Given the description of an element on the screen output the (x, y) to click on. 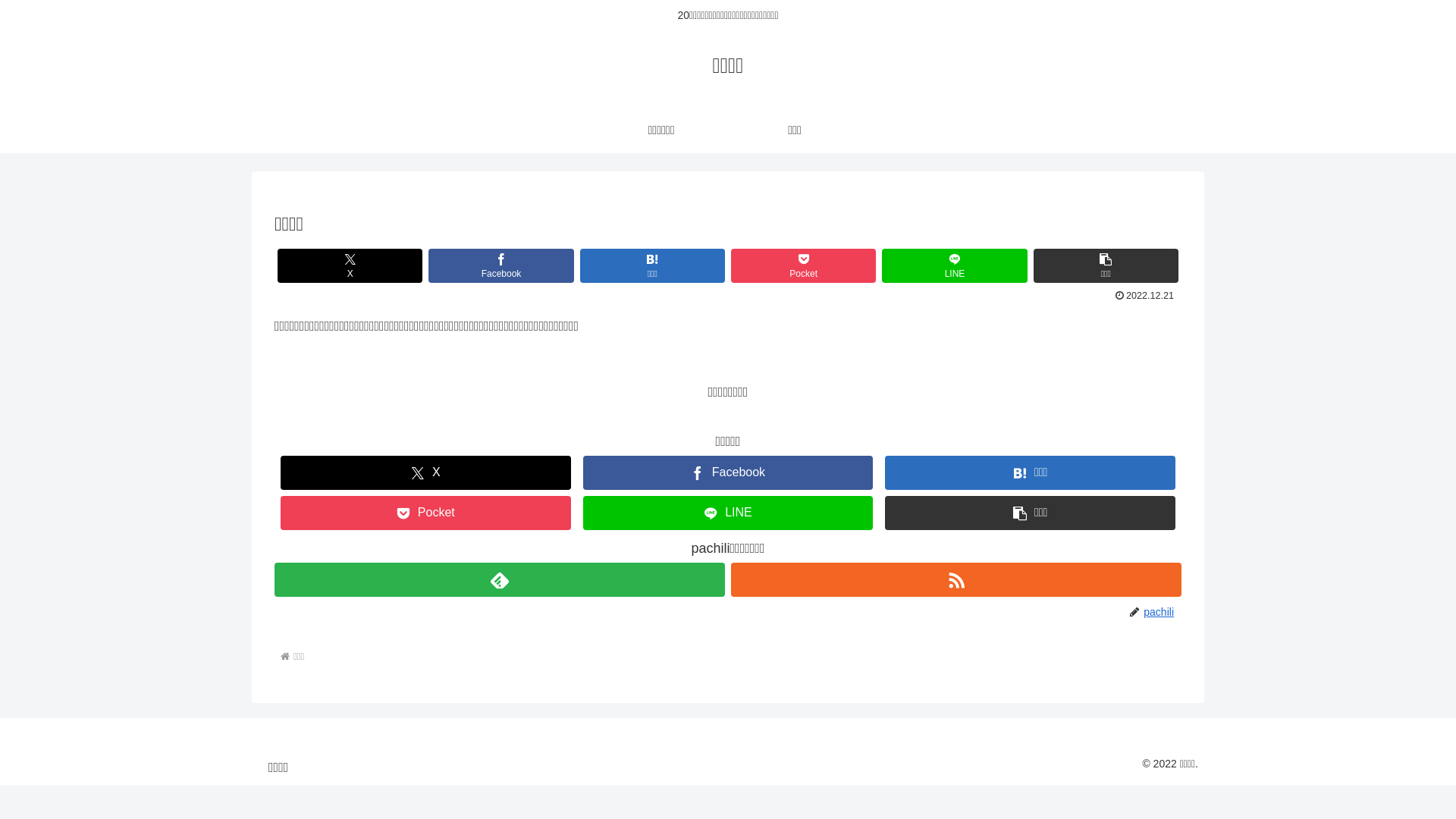
LINE Element type: text (728, 512)
Pocket Element type: text (803, 265)
Facebook Element type: text (728, 472)
Pocket Element type: text (425, 512)
X Element type: text (349, 265)
pachili Element type: text (1161, 611)
X Element type: text (425, 472)
LINE Element type: text (953, 265)
Facebook Element type: text (500, 265)
